Given the description of an element on the screen output the (x, y) to click on. 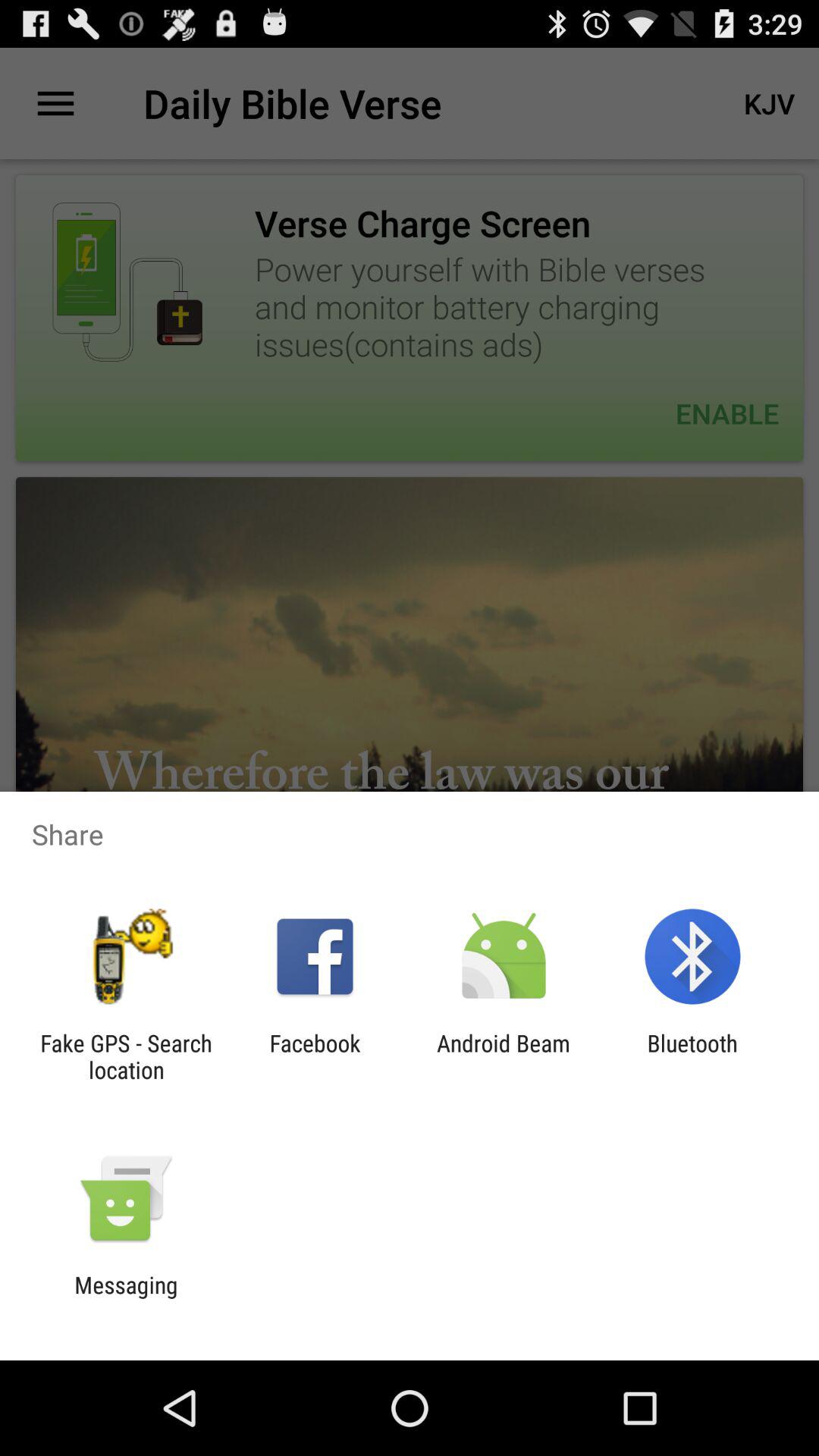
turn off app next to the fake gps search item (314, 1056)
